Given the description of an element on the screen output the (x, y) to click on. 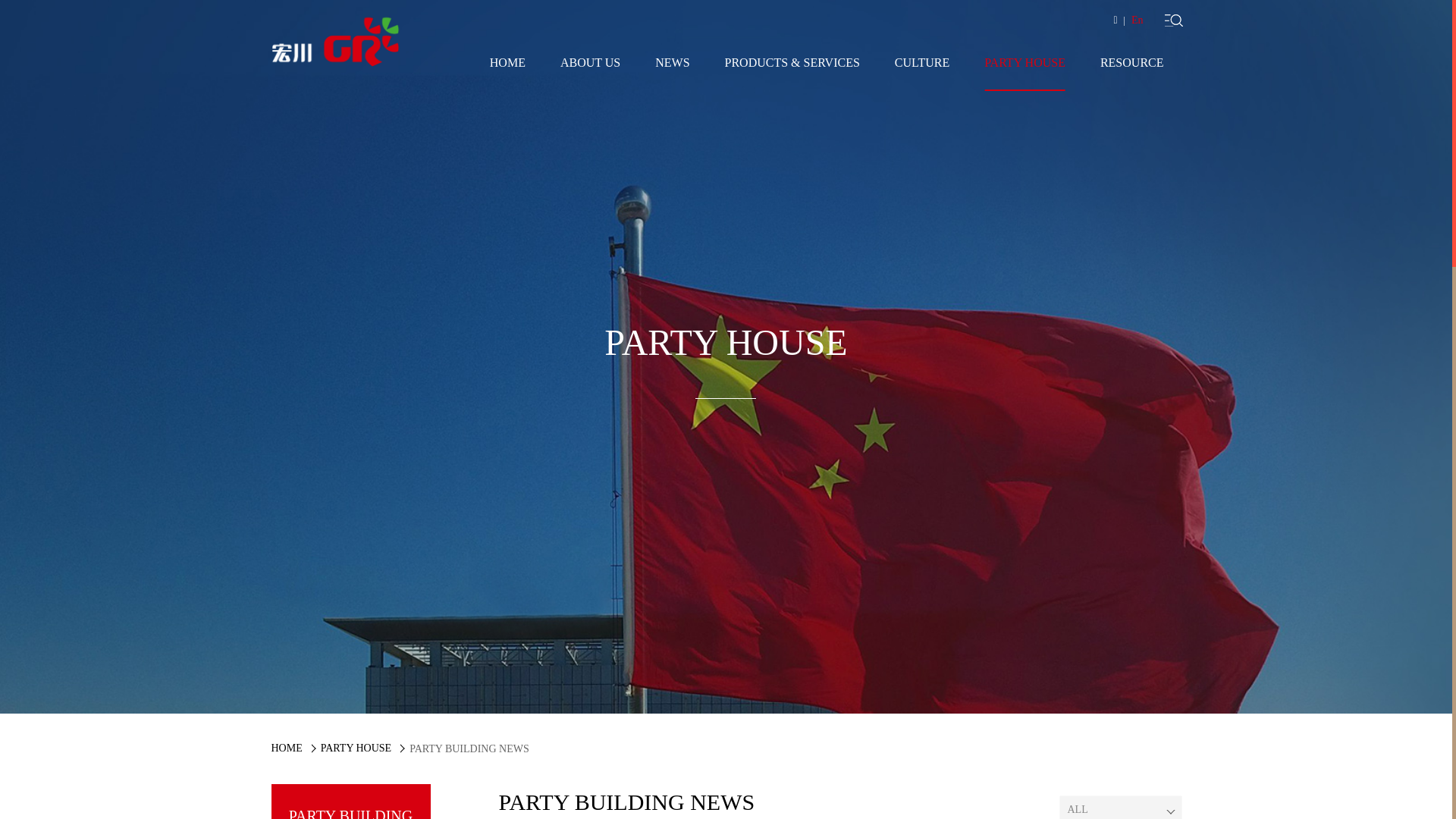
ABOUT US Element type: text (590, 73)
PARTY BUILDING NEWS Element type: text (582, 748)
PARTY HOUSE Element type: text (1024, 73)
NEWS Element type: text (672, 73)
PARTY HOUSE Element type: text (355, 748)
HOME Element type: text (286, 748)
PRODUCTS & SERVICES Element type: text (791, 73)
En Element type: text (1137, 20)
HOME Element type: text (507, 73)
RESOURCE Element type: text (1132, 73)
CULTURE Element type: text (921, 73)
